Given the description of an element on the screen output the (x, y) to click on. 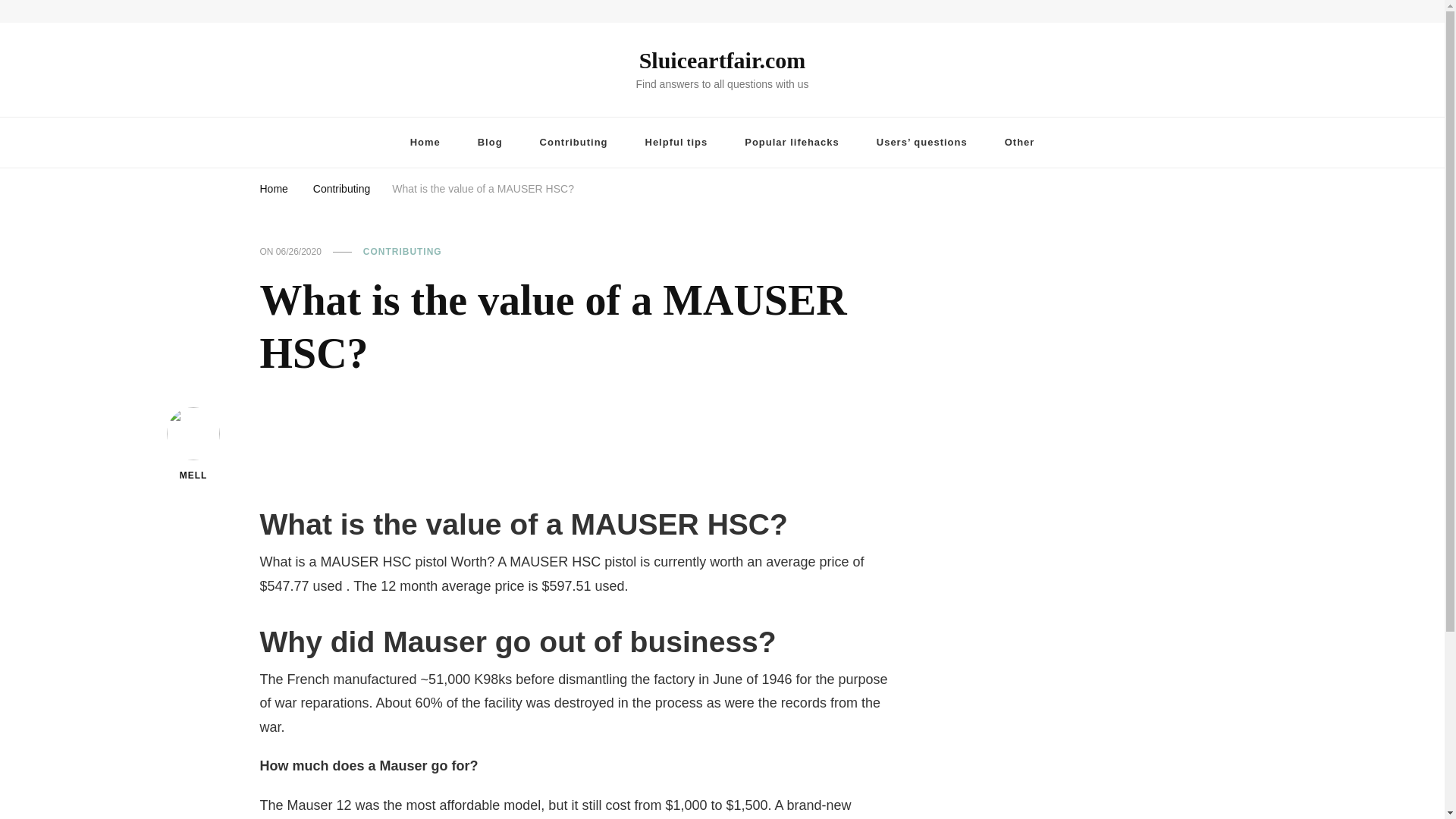
Contributing (342, 187)
Home (425, 142)
Helpful tips (676, 142)
What is the value of a MAUSER HSC? (482, 187)
Home (272, 187)
Blog (490, 142)
Other (1019, 142)
Popular lifehacks (792, 142)
Sluiceartfair.com (722, 59)
Contributing (573, 142)
